Given the description of an element on the screen output the (x, y) to click on. 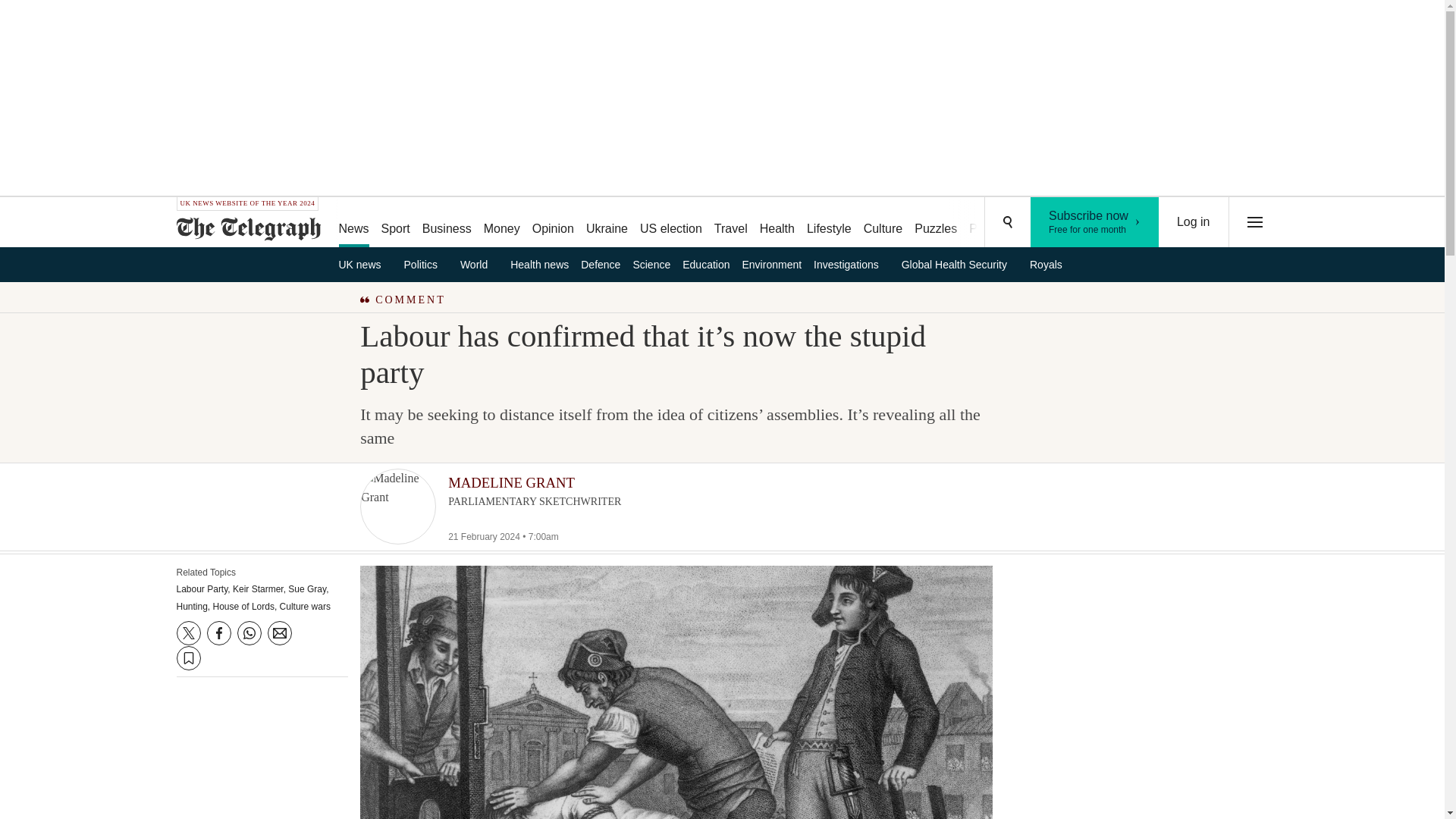
Opinion (1094, 222)
Health (552, 223)
Money (777, 223)
Puzzles (501, 223)
Culture (935, 223)
Politics (882, 223)
Business (425, 264)
US election (446, 223)
Podcasts (670, 223)
